Given the description of an element on the screen output the (x, y) to click on. 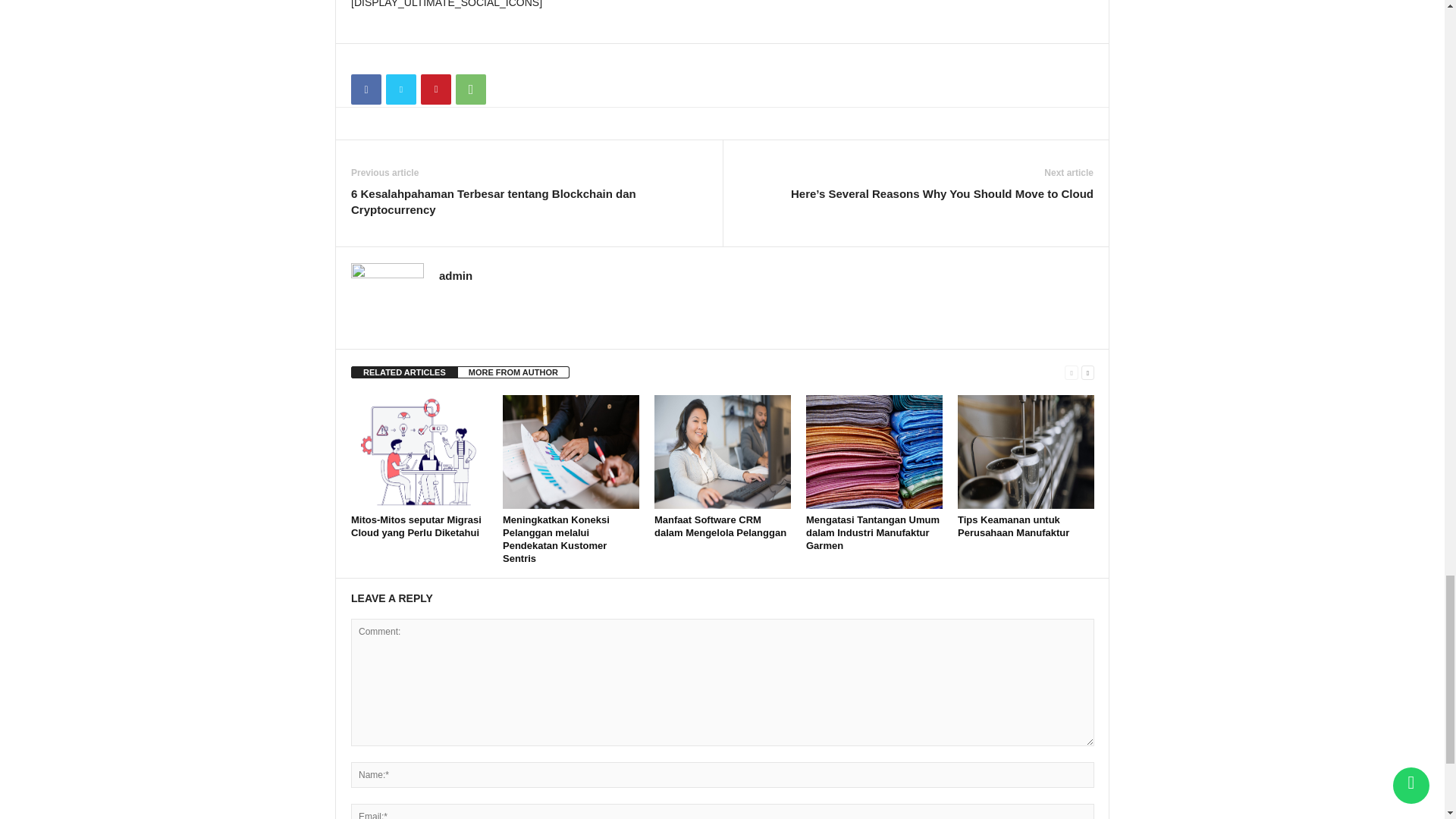
Mitos-Mitos seputar Migrasi Cloud yang Perlu Diketahui (415, 526)
Manfaat Software CRM dalam Mengelola Pelanggan (721, 451)
Facebook (365, 89)
Twitter (400, 89)
Pinterest (435, 89)
WhatsApp (470, 89)
Mitos-Mitos seputar Migrasi Cloud yang Perlu Diketahui (418, 451)
